Given the description of an element on the screen output the (x, y) to click on. 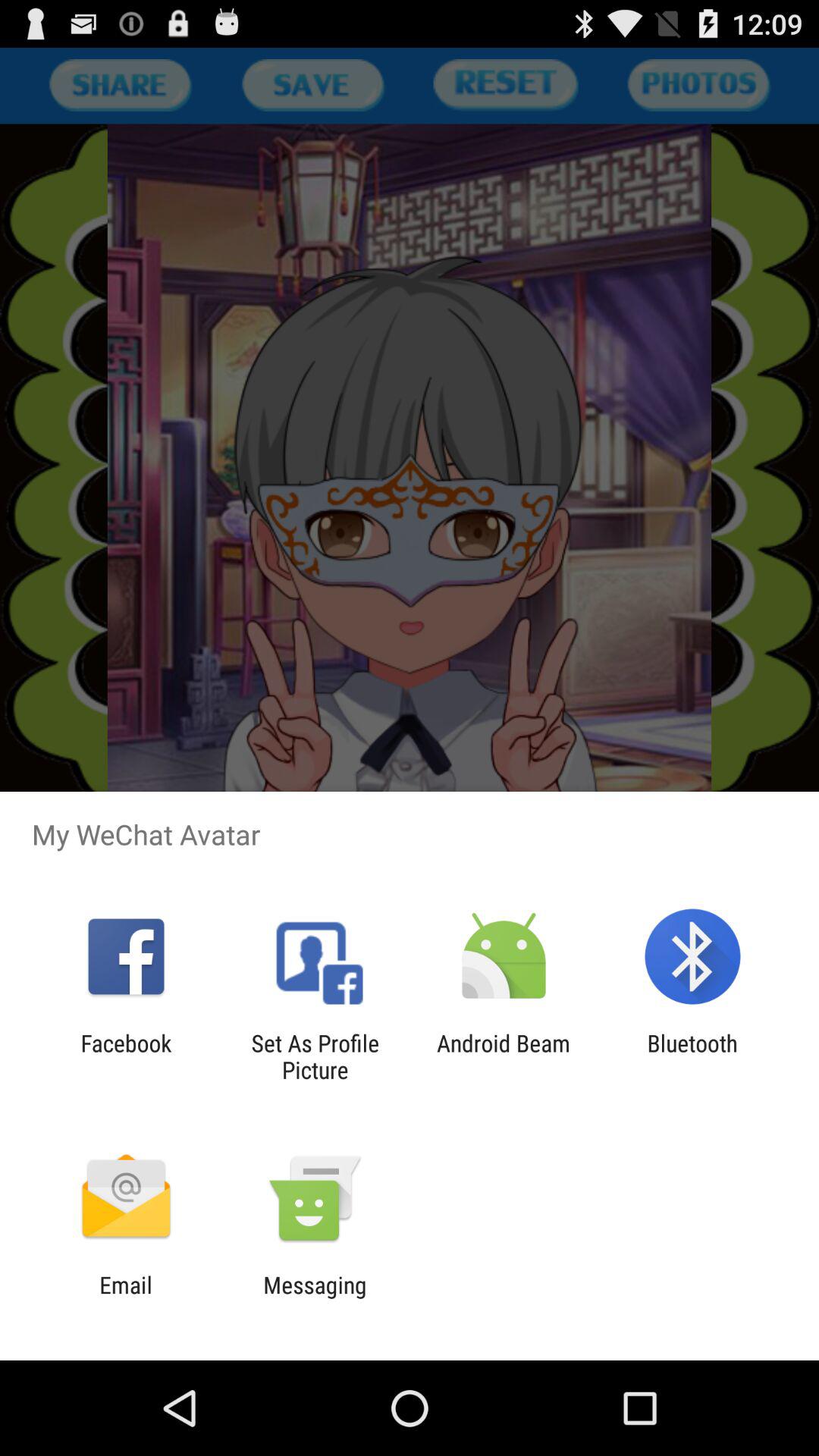
choose app to the right of the email item (314, 1298)
